Given the description of an element on the screen output the (x, y) to click on. 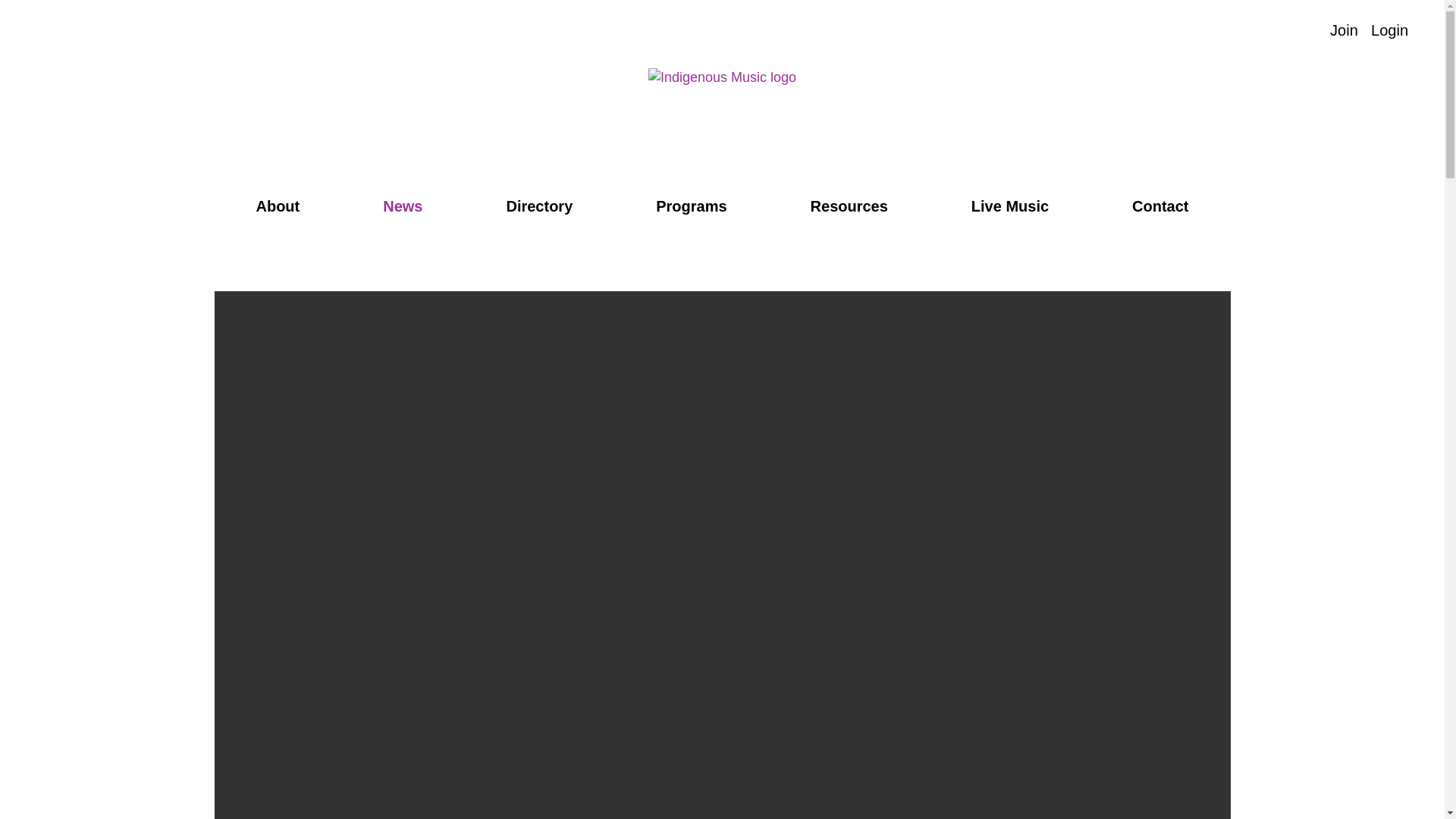
Instagram (95, 31)
Join Manitoba Music by Becoming a Member (1343, 30)
Instagram (95, 31)
Contact (1160, 205)
Contact Us (156, 31)
Follow us on Spotify (44, 31)
Visit Manitoba Music (1308, 30)
Search Manitoba Music (1279, 30)
Contact (156, 31)
About (277, 205)
